Given the description of an element on the screen output the (x, y) to click on. 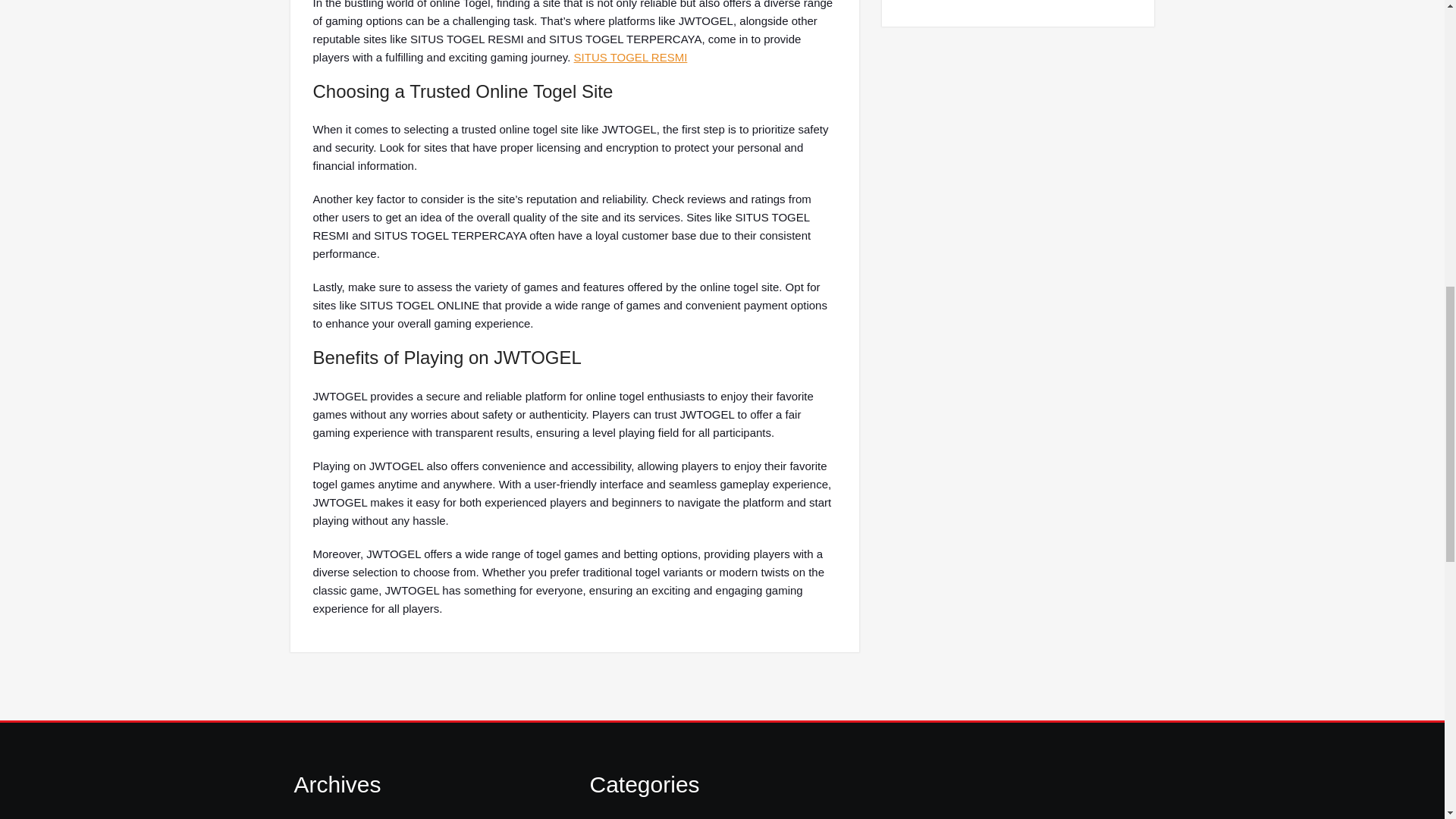
July 2024 (318, 817)
SITUS TOGEL RESMI (630, 56)
